Given the description of an element on the screen output the (x, y) to click on. 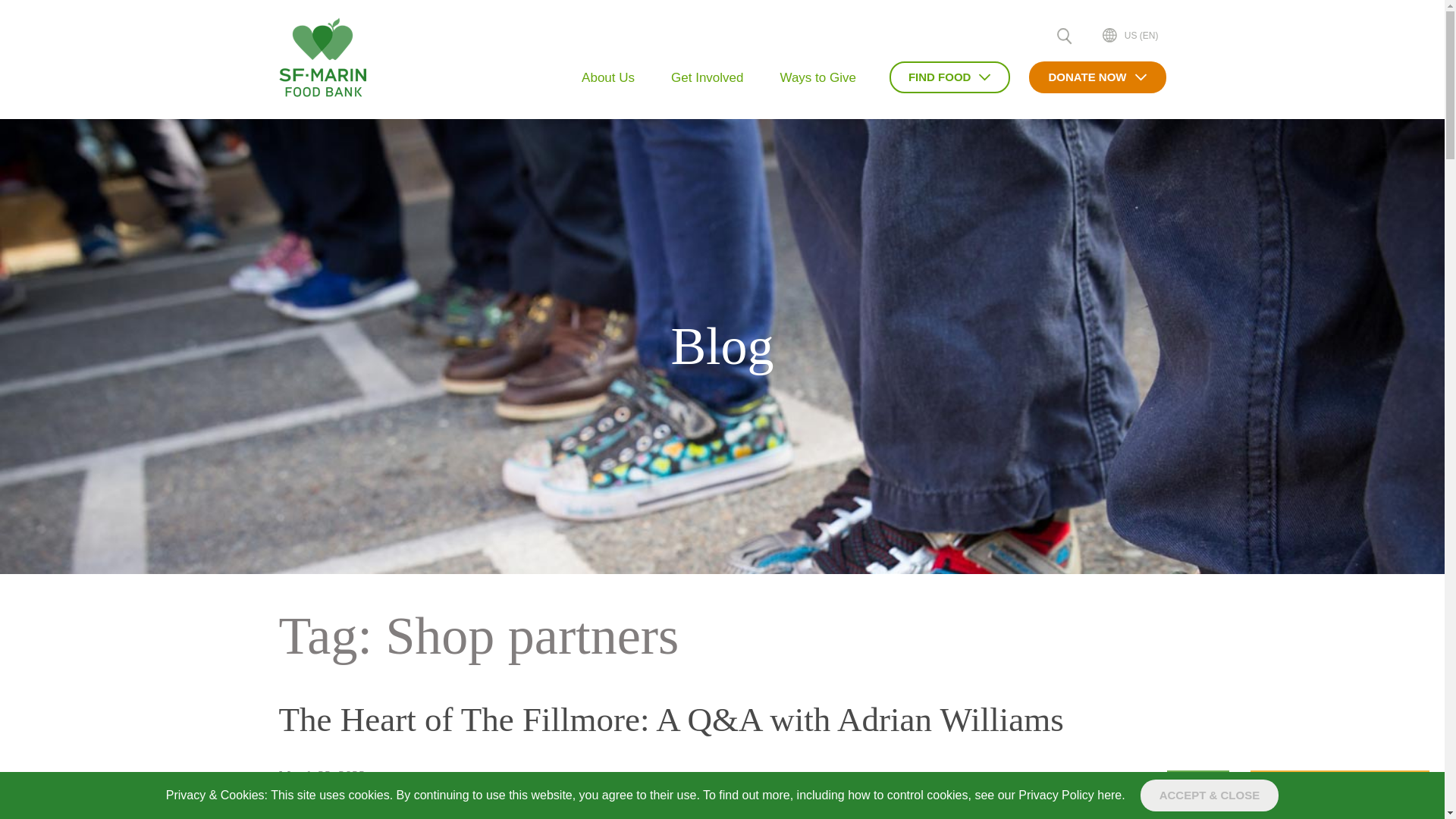
About Us (607, 76)
Ways to Give (817, 76)
Get Involved (707, 76)
SEARCH (1064, 36)
